Given the description of an element on the screen output the (x, y) to click on. 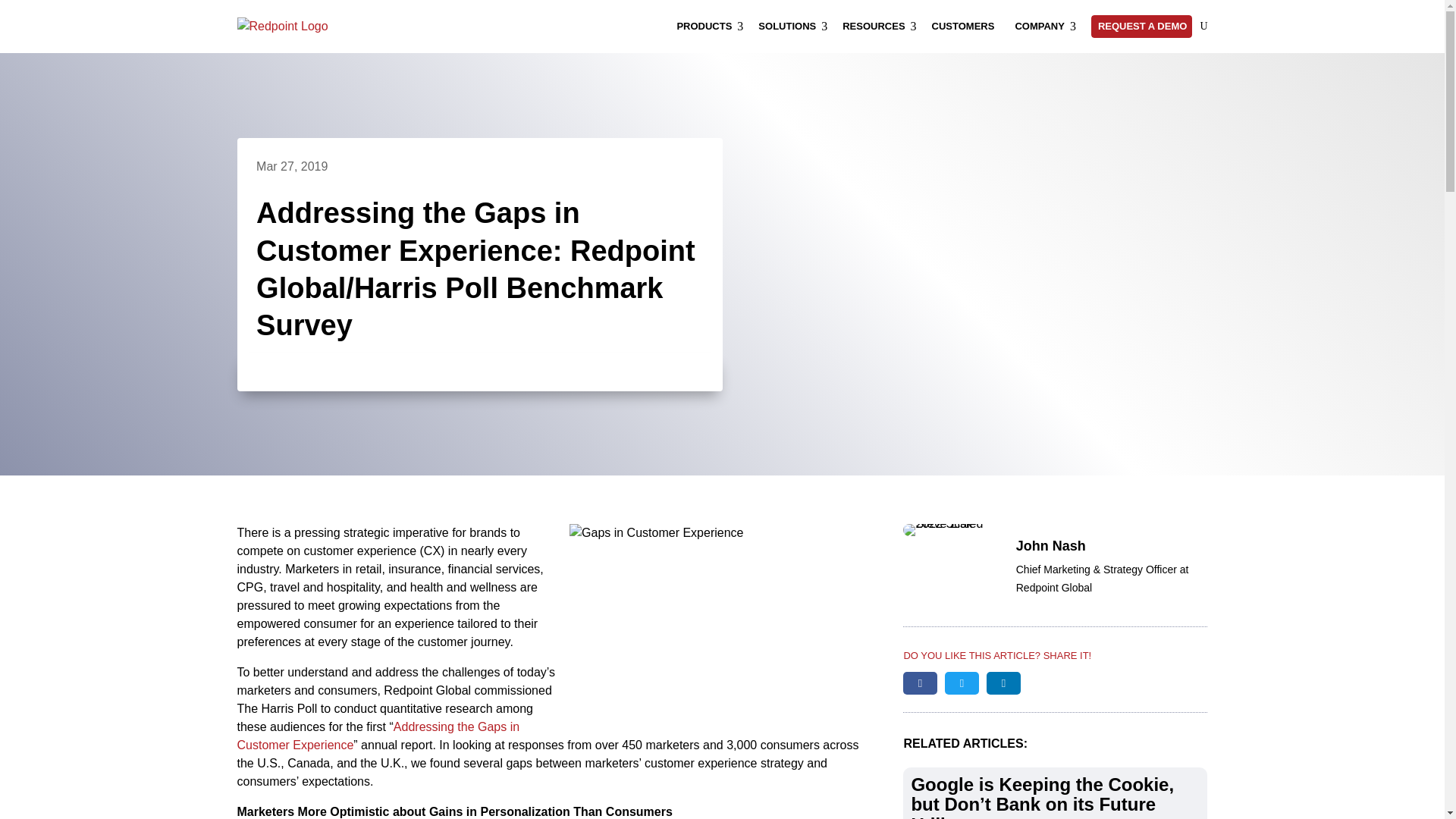
CUSTOMERS (1044, 26)
REQUEST A DEMO (792, 26)
Redpoint (965, 26)
